Given the description of an element on the screen output the (x, y) to click on. 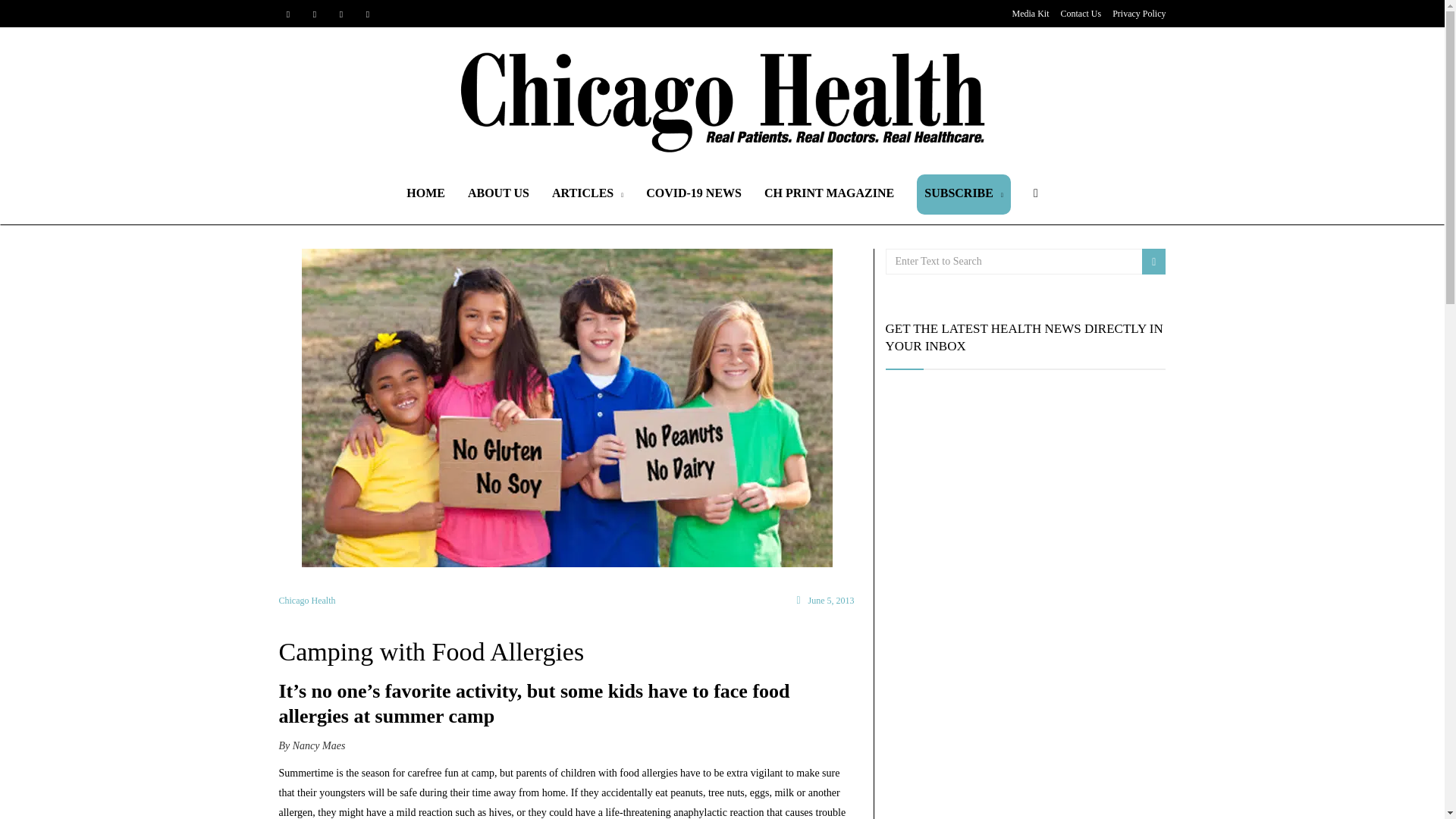
Contact Us (1079, 13)
Login (727, 426)
ABOUT US (498, 193)
ARTICLES (587, 194)
Privacy Policy (1139, 13)
Media Kit (1029, 13)
HOME (425, 193)
